Given the description of an element on the screen output the (x, y) to click on. 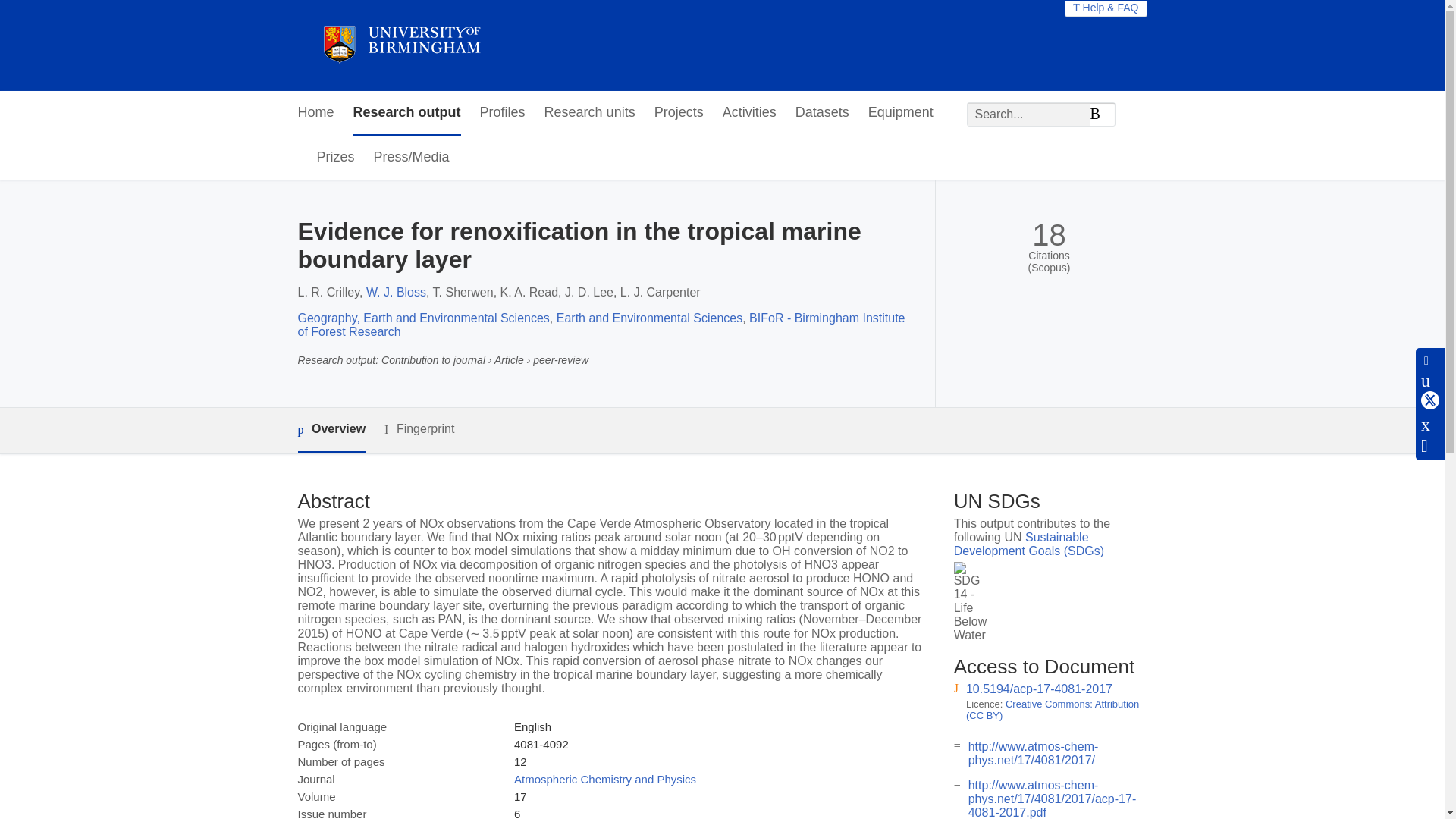
Research output (407, 112)
Fingerprint (419, 429)
Projects (678, 112)
Atmospheric Chemistry and Physics (604, 779)
W. J. Bloss (396, 291)
Equipment (900, 112)
Profiles (502, 112)
Overview (331, 429)
BIFoR - Birmingham Institute of Forest Research (600, 325)
Geography, Earth and Environmental Sciences (422, 318)
Earth and Environmental Sciences (649, 318)
Datasets (821, 112)
Research units (589, 112)
University of Birmingham Home (401, 45)
